Given the description of an element on the screen output the (x, y) to click on. 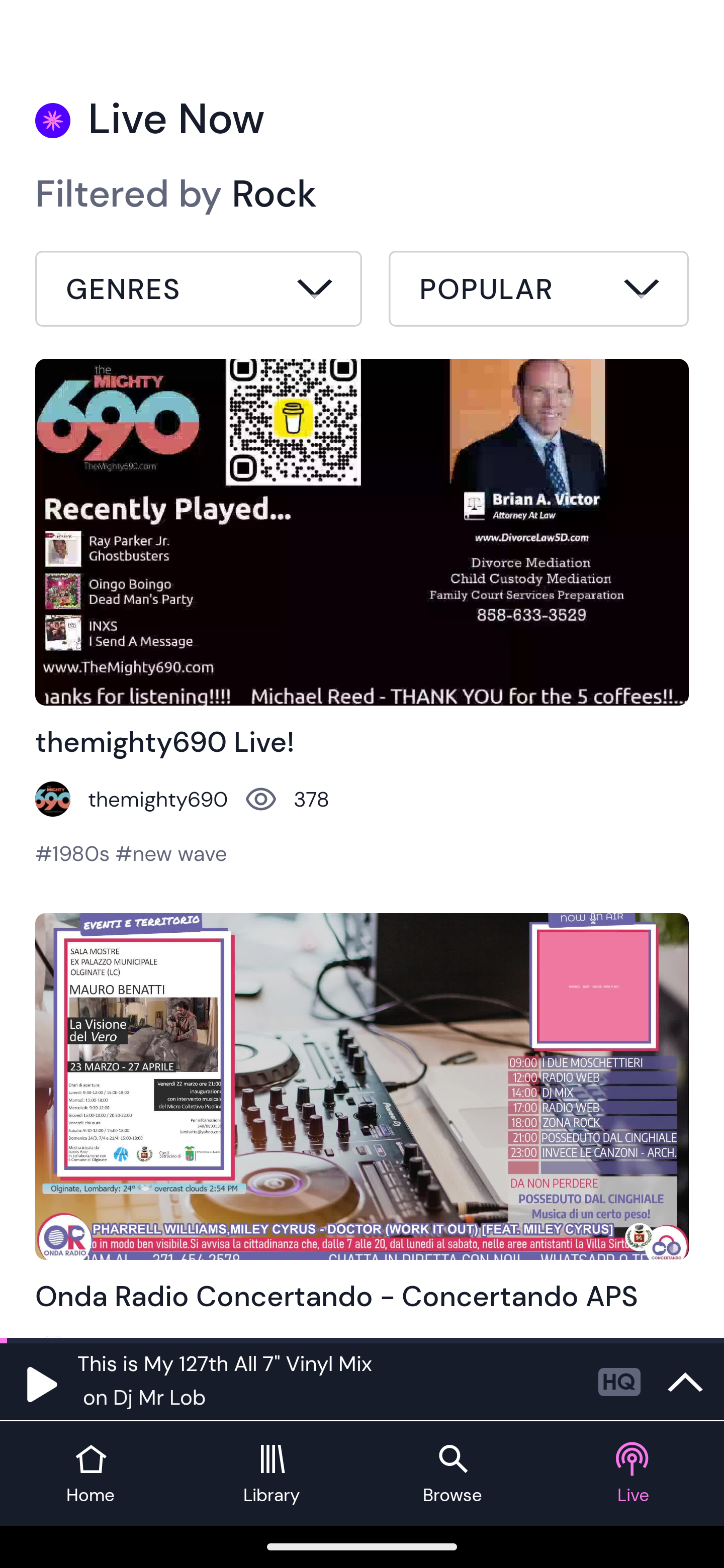
Filter by button Rock (198, 291)
Sort by button Popular (538, 291)
Home tab Home (90, 1473)
Library tab Library (271, 1473)
Browse tab Browse (452, 1473)
Live tab Live (633, 1473)
